Given the description of an element on the screen output the (x, y) to click on. 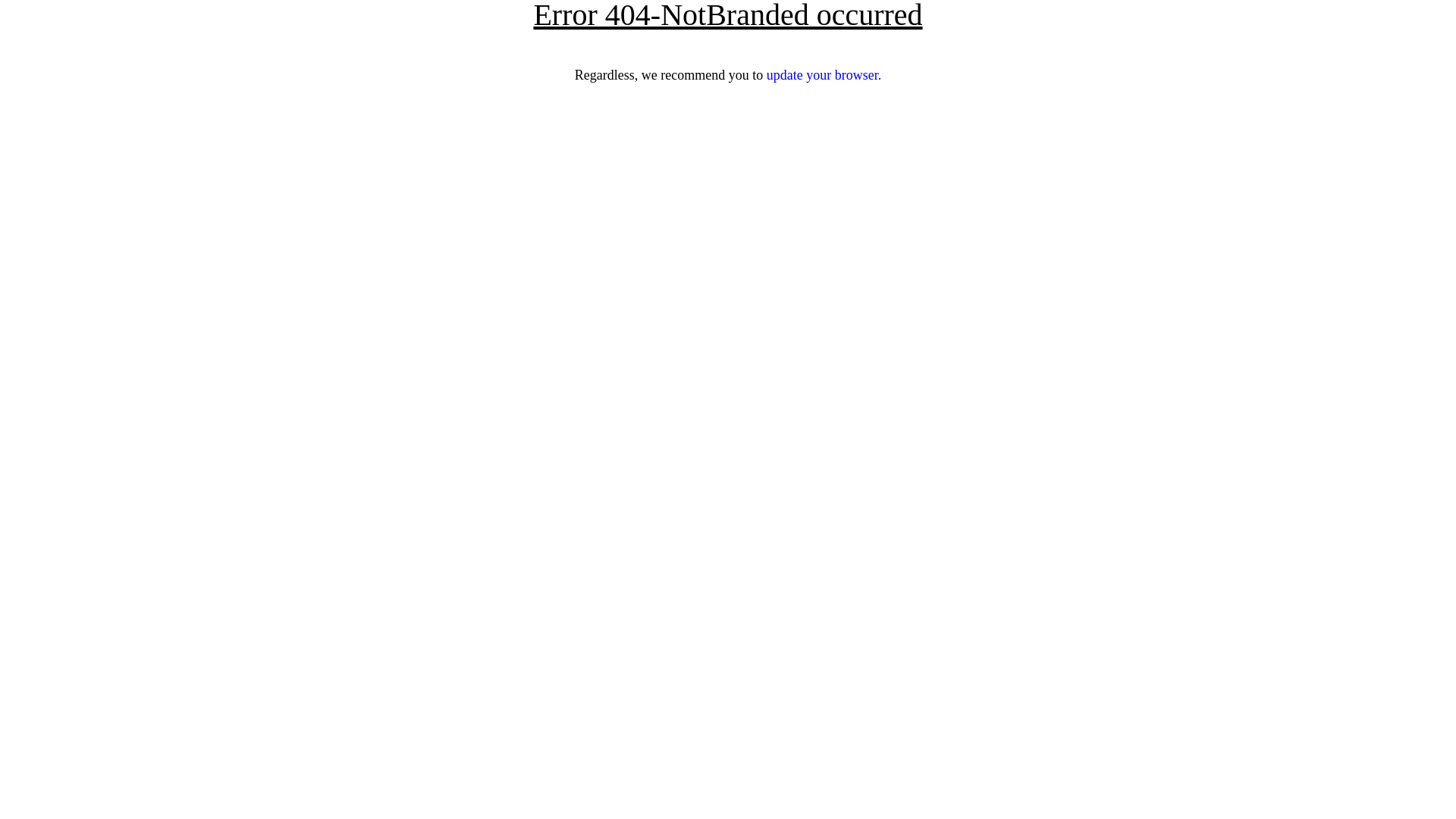
update your browser. Element type: text (823, 74)
